Given the description of an element on the screen output the (x, y) to click on. 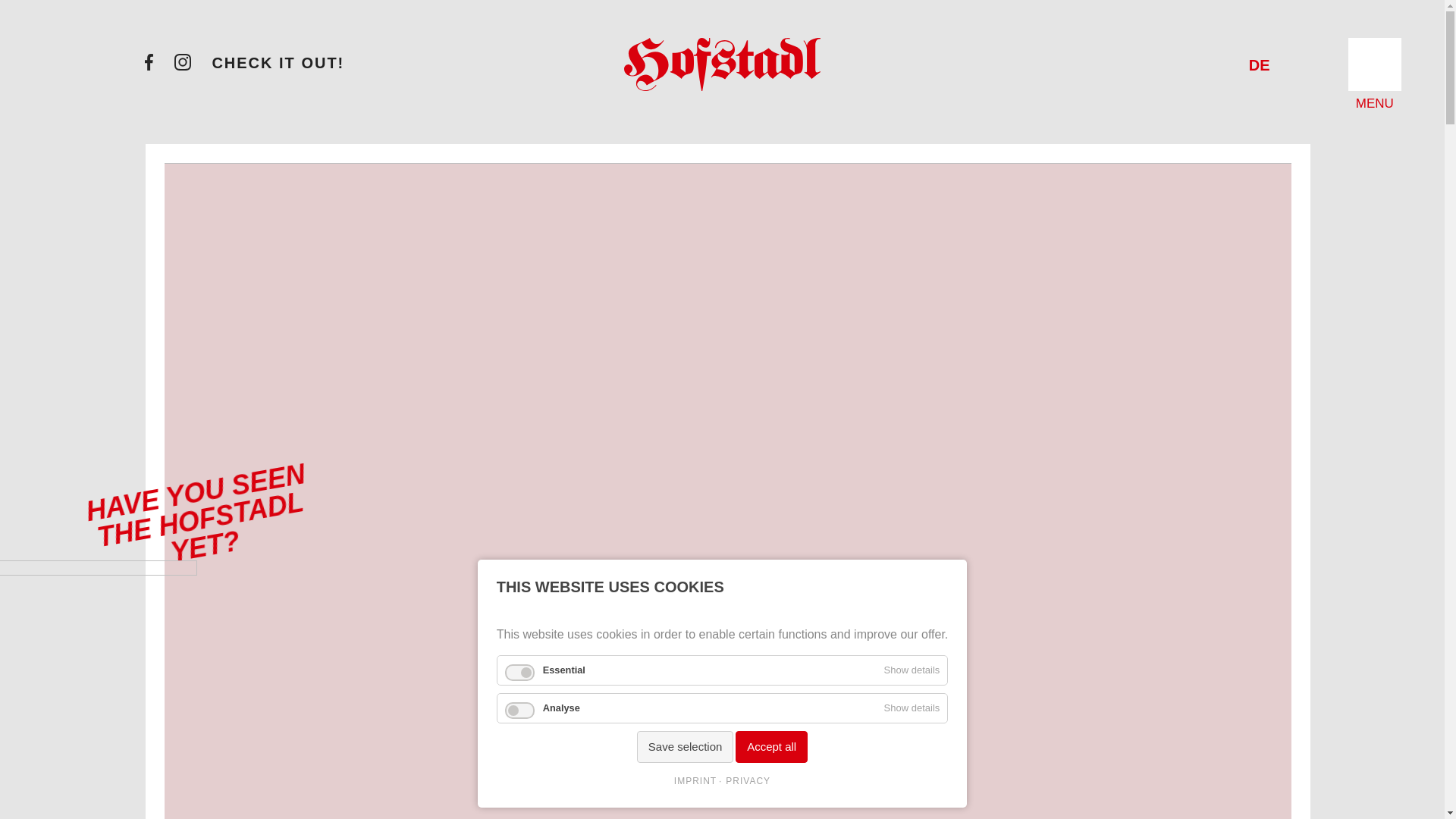
DE (1259, 64)
MENU (1374, 63)
HOFSTADL - Die Nr. 1 in Flachau! (1259, 64)
